Given the description of an element on the screen output the (x, y) to click on. 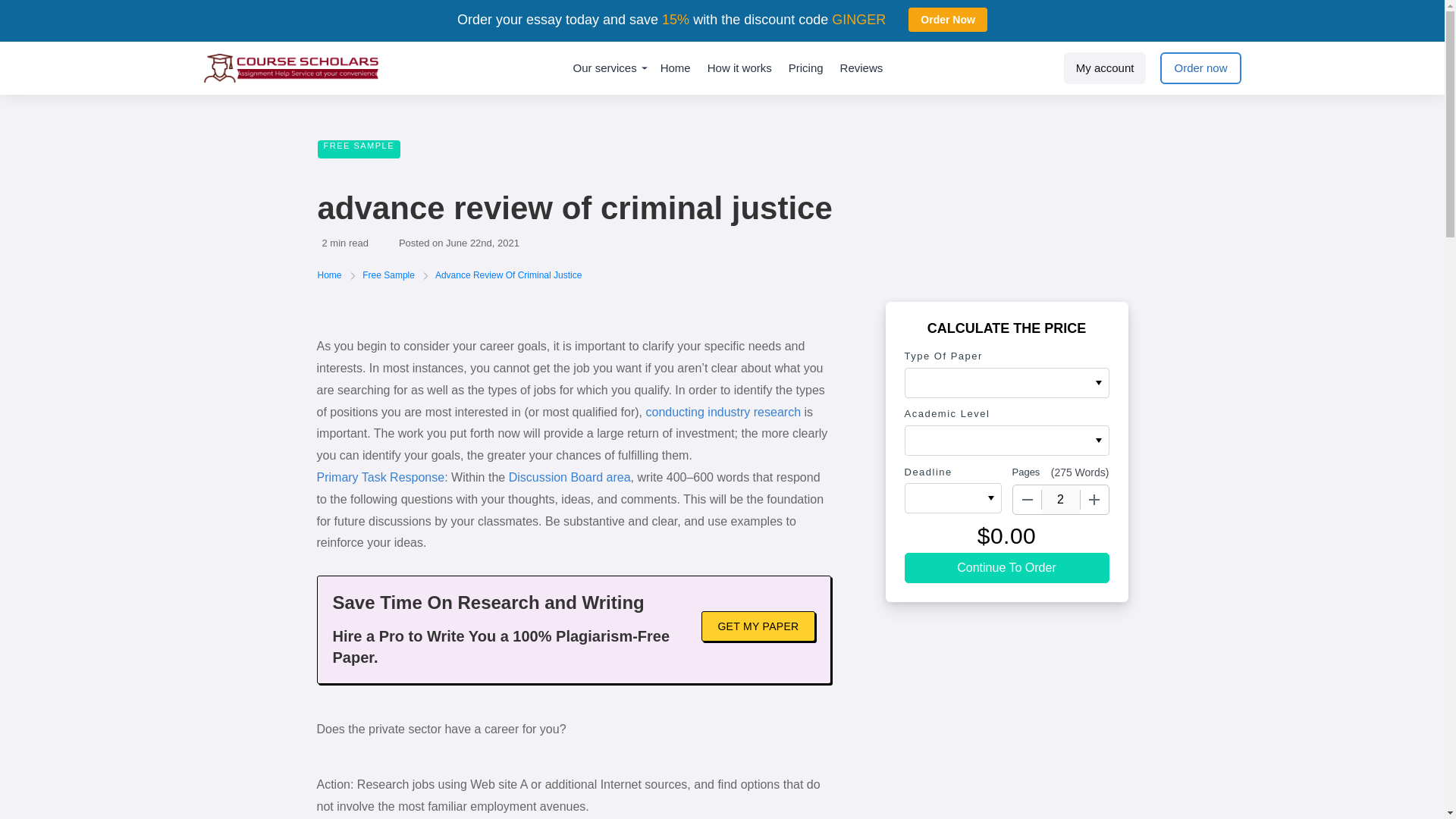
Order Now (947, 19)
Increase (1094, 499)
Decrease (1027, 499)
Continue to order (1006, 567)
2 (1061, 499)
